Given the description of an element on the screen output the (x, y) to click on. 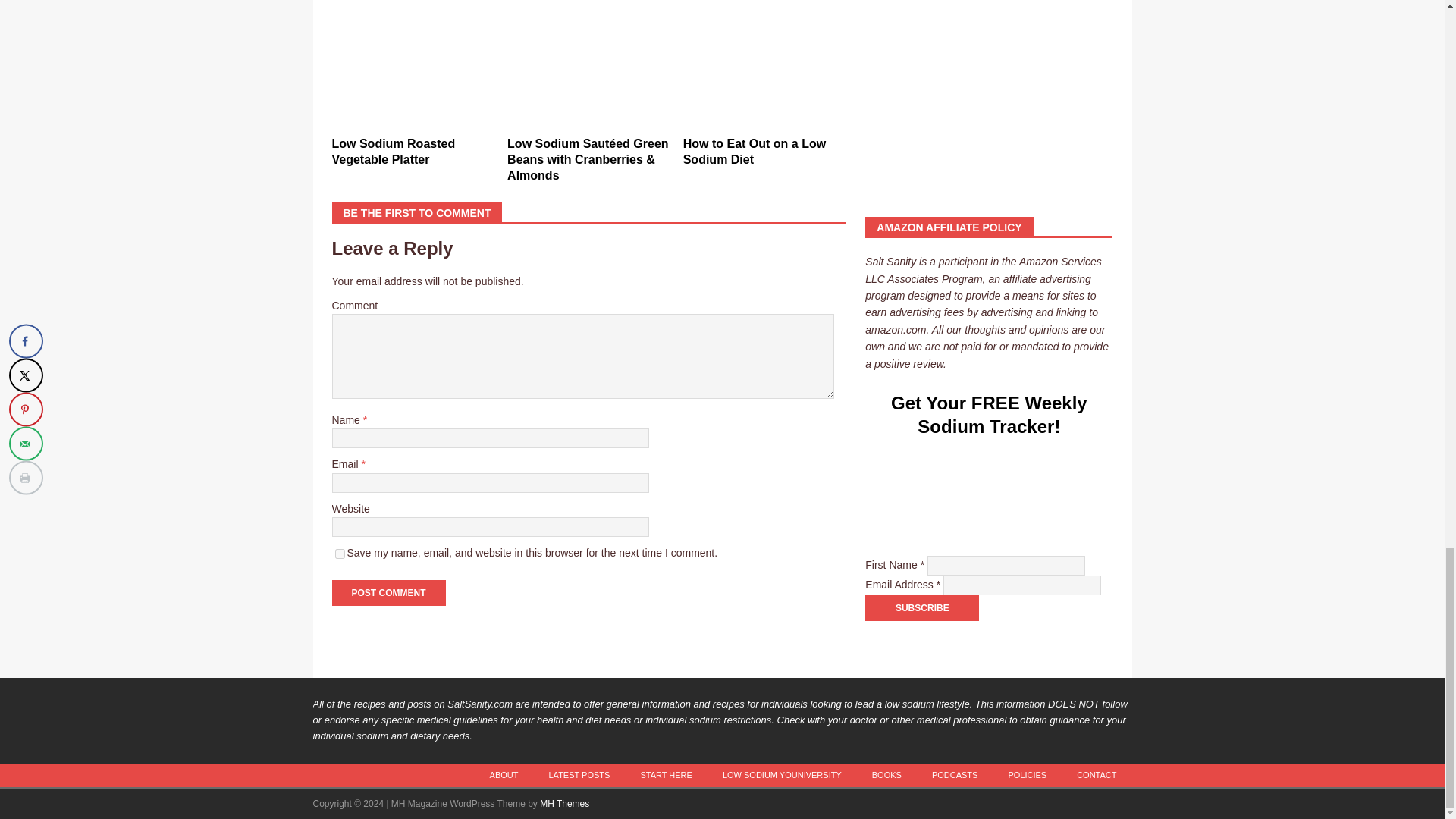
yes (339, 553)
Low Sodium Roasted Vegetable Platter (393, 151)
Subscribe (921, 607)
Post Comment (388, 592)
Low Sodium Roasted Vegetable Platter (413, 67)
Low Sodium Roasted Vegetable Platter (393, 151)
